Given the description of an element on the screen output the (x, y) to click on. 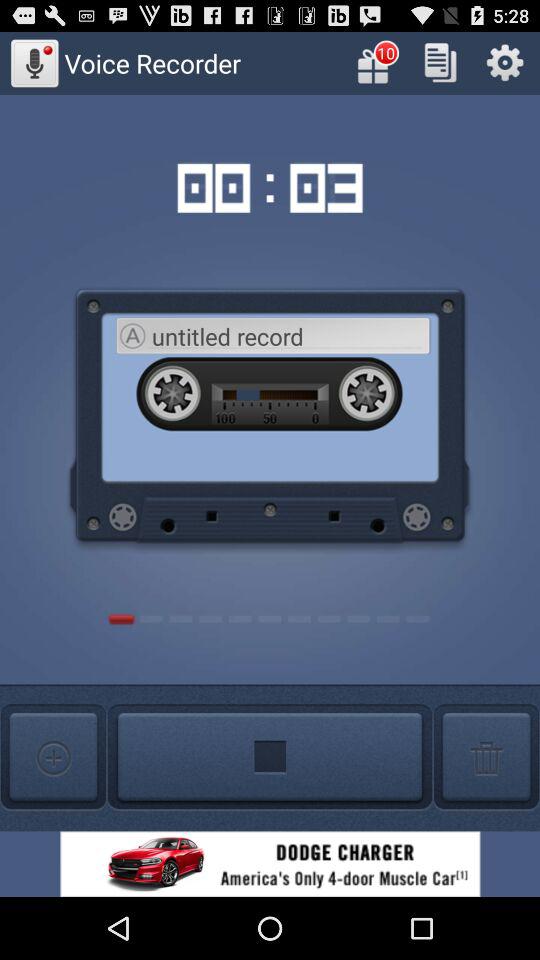
click to the copy option (440, 62)
